Given the description of an element on the screen output the (x, y) to click on. 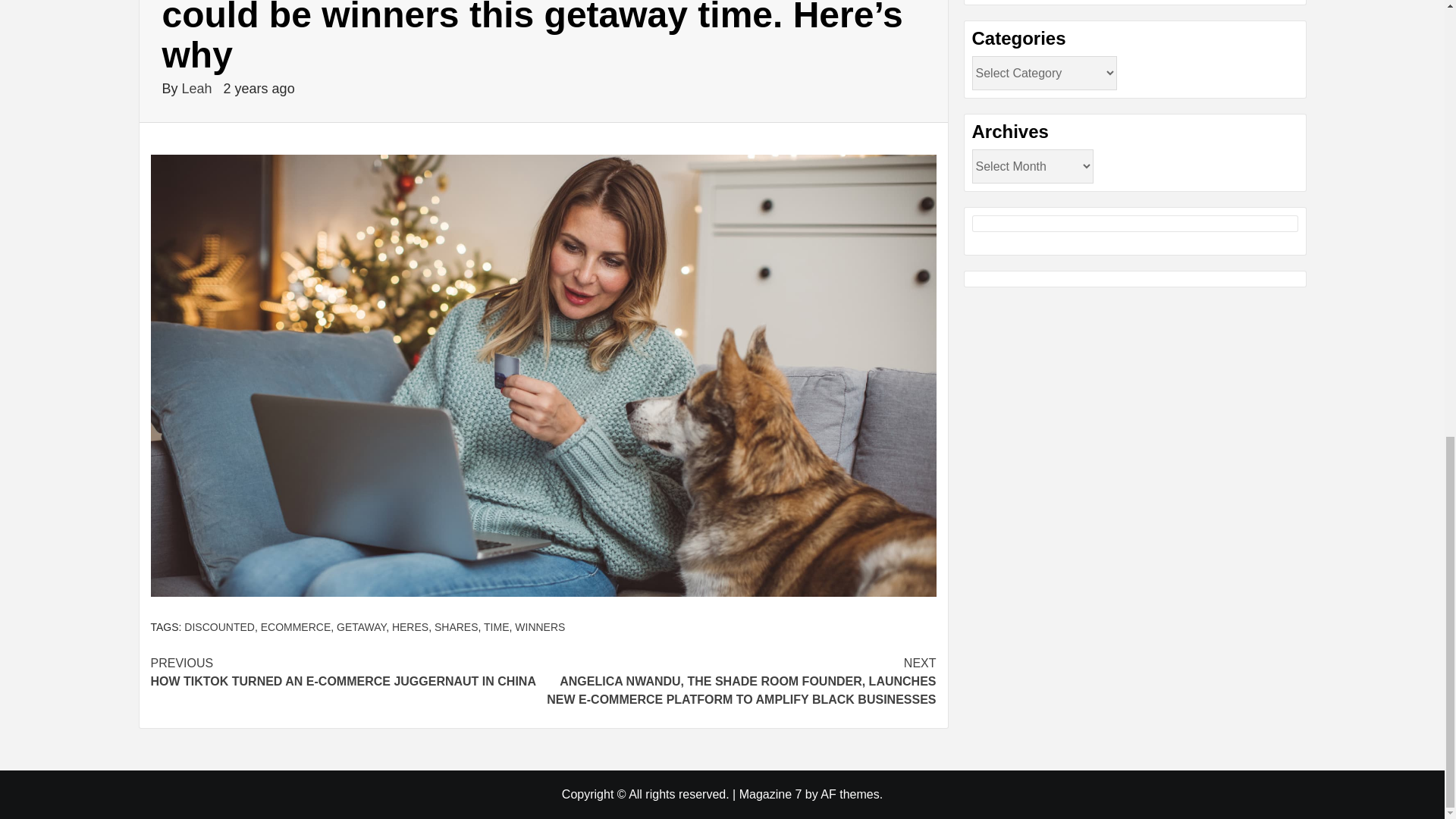
GETAWAY (360, 626)
SHARES (346, 672)
TIME (456, 626)
Magazine 7 (495, 626)
ECOMMERCE (770, 793)
WINNERS (295, 626)
HERES (539, 626)
Leah (409, 626)
DISCOUNTED (198, 88)
